Given the description of an element on the screen output the (x, y) to click on. 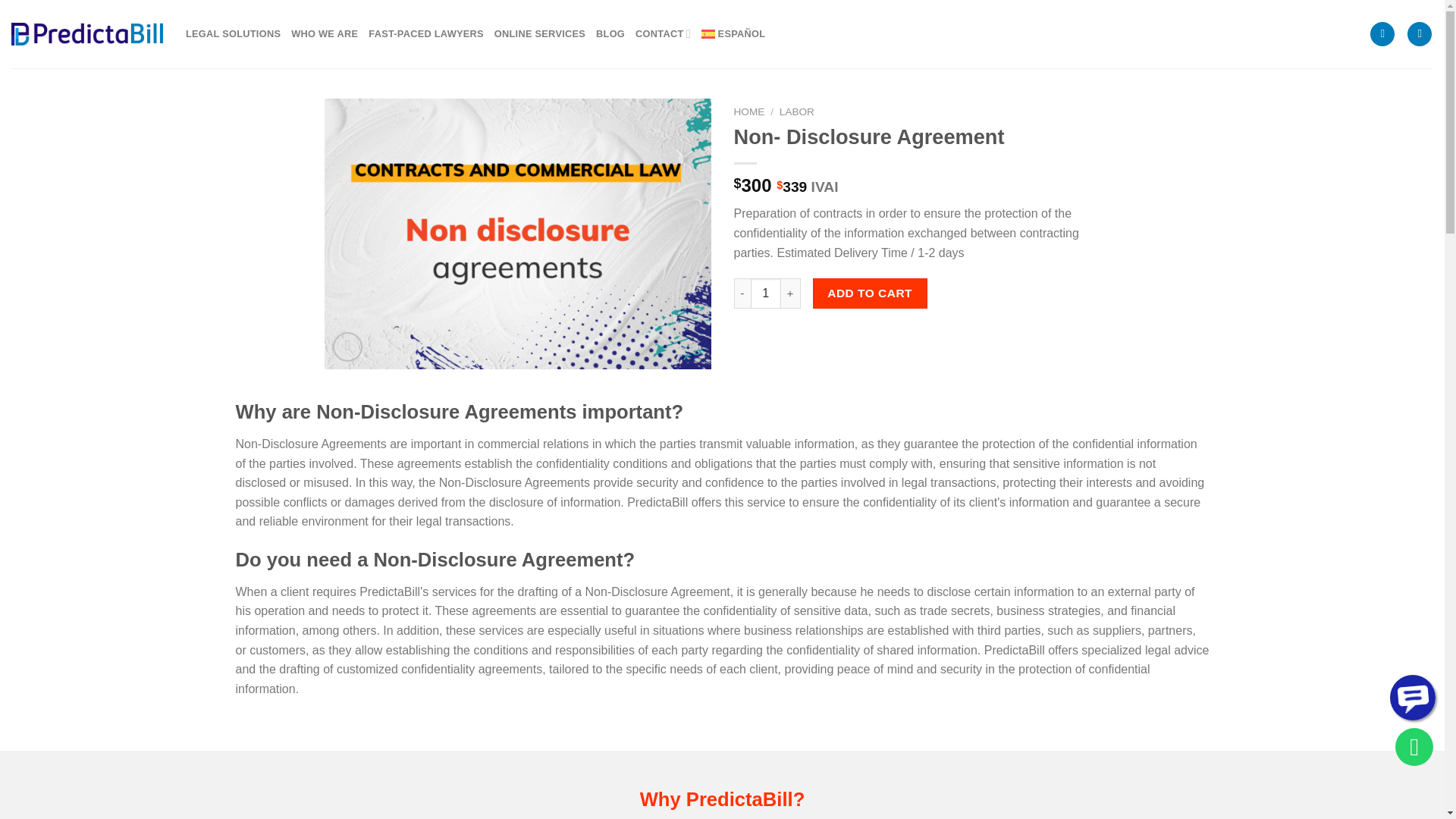
Zoom (347, 346)
BLOG (609, 33)
LABOR (795, 111)
ONLINE SERVICES (540, 33)
FAST-PACED LAWYERS (425, 33)
ADD TO CART (869, 293)
LEGAL SOLUTIONS (233, 33)
1 (765, 293)
HOME (749, 111)
Cart (1419, 34)
